Given the description of an element on the screen output the (x, y) to click on. 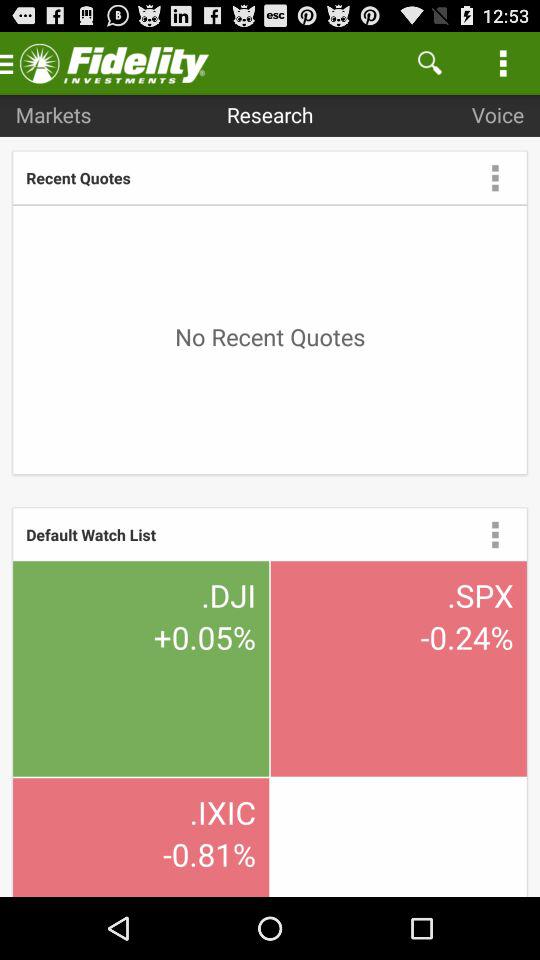
go to options (495, 534)
